Given the description of an element on the screen output the (x, y) to click on. 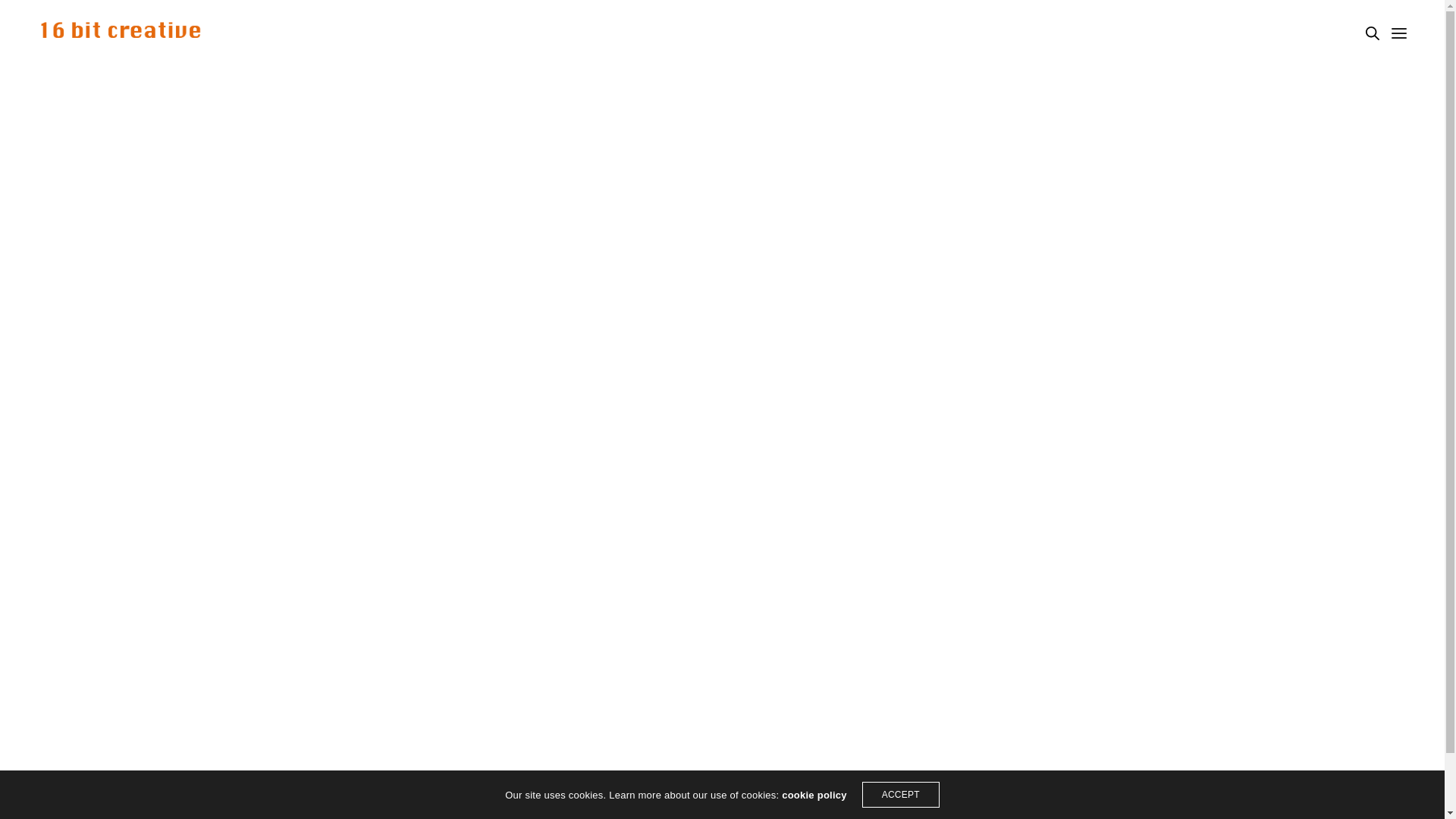
16bit Creative Element type: hover (119, 32)
cookie policy Element type: text (814, 794)
ACCEPT Element type: text (900, 794)
Search Element type: hover (1372, 33)
Search Element type: text (47, 16)
